Given the description of an element on the screen output the (x, y) to click on. 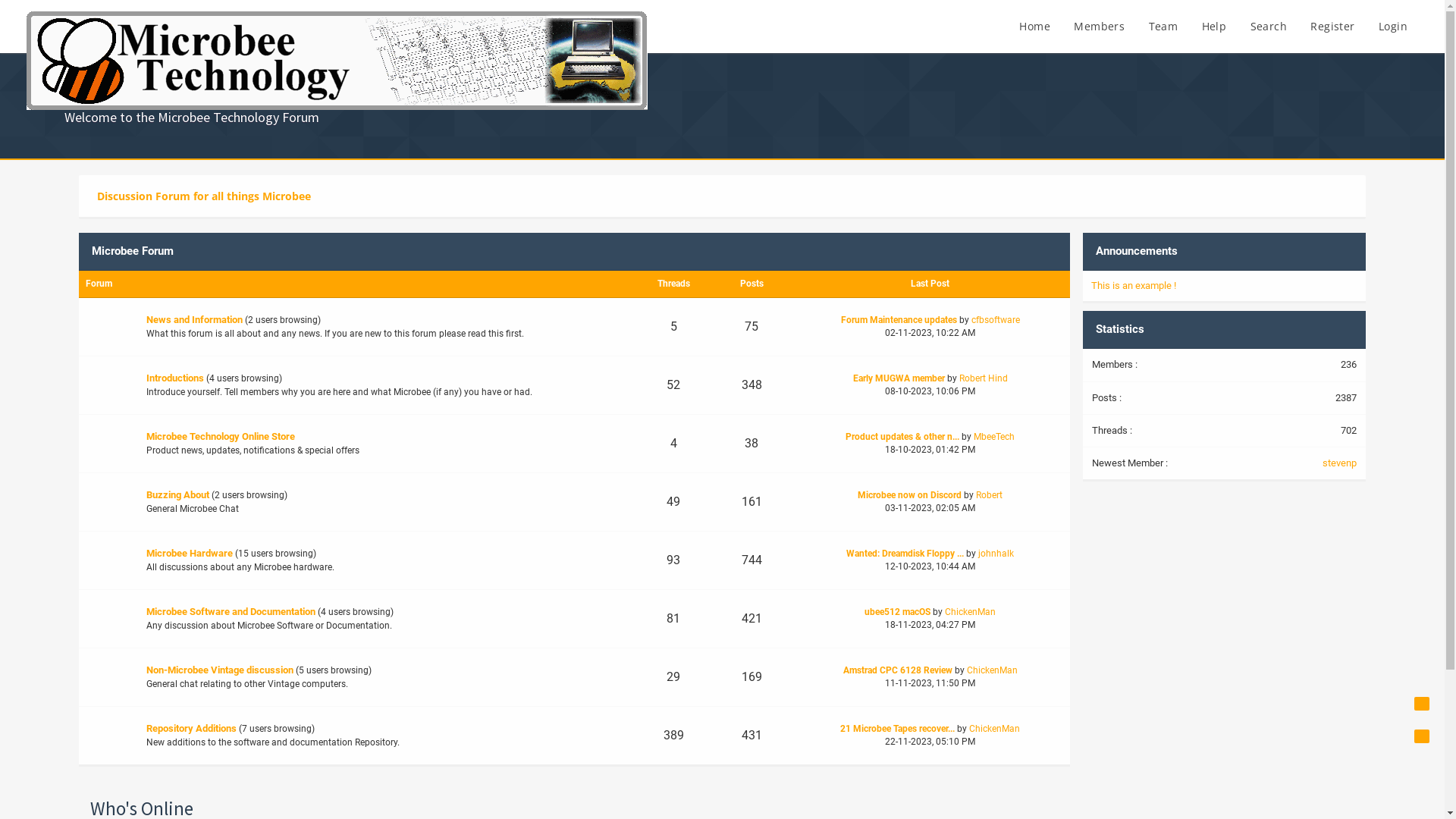
Microbee Forum Element type: text (132, 250)
Forum Maintenance updates Element type: text (898, 319)
Early MUGWA member Element type: text (898, 378)
Forum Contains New Posts - Click to mark this forum as read Element type: hover (107, 385)
Introductions Element type: text (174, 377)
ChickenMan Element type: text (969, 611)
Microbee Technology Online Store Element type: text (220, 436)
Product updates & other n... Element type: text (902, 436)
ChickenMan Element type: text (991, 670)
Forum Contains New Posts - Click to mark this forum as read Element type: hover (107, 326)
Forum Contains New Posts - Click to mark this forum as read Element type: hover (107, 618)
Amstrad CPC 6128 Review Element type: text (897, 670)
Repository Additions Element type: text (191, 728)
News and Information Element type: text (194, 319)
ubee512 macOS Element type: text (897, 611)
Forum Contains New Posts - Click to mark this forum as read Element type: hover (107, 501)
Forum Contains New Posts - Click to mark this forum as read Element type: hover (107, 677)
Register Element type: text (1332, 26)
ChickenMan Element type: text (994, 728)
Forum Contains New Posts - Click to mark this forum as read Element type: hover (107, 443)
21 Microbee Tapes recover... Element type: text (897, 728)
Microbee Hardware Element type: text (189, 552)
Team Element type: text (1163, 26)
Robert Element type: text (988, 494)
Non-Microbee Vintage discussion Element type: text (219, 669)
Wanted: Dreamdisk Floppy ... Element type: text (904, 553)
Microbee now on Discord Element type: text (909, 494)
Help Element type: text (1214, 26)
Microbee Software and Documentation Element type: text (230, 611)
Search Element type: text (1268, 26)
Buzzing About Element type: text (177, 494)
MbeeTech Element type: text (993, 436)
Home Element type: text (1034, 26)
Login Element type: text (1393, 26)
Forum Contains New Posts - Click to mark this forum as read Element type: hover (107, 735)
This is an example ! Element type: text (1133, 285)
Members Element type: text (1099, 26)
Robert Hind Element type: text (983, 378)
stevenp Element type: text (1339, 462)
cfbsoftware Element type: text (995, 319)
Forum Contains New Posts - Click to mark this forum as read Element type: hover (107, 560)
johnhalk Element type: text (995, 553)
